Given the description of an element on the screen output the (x, y) to click on. 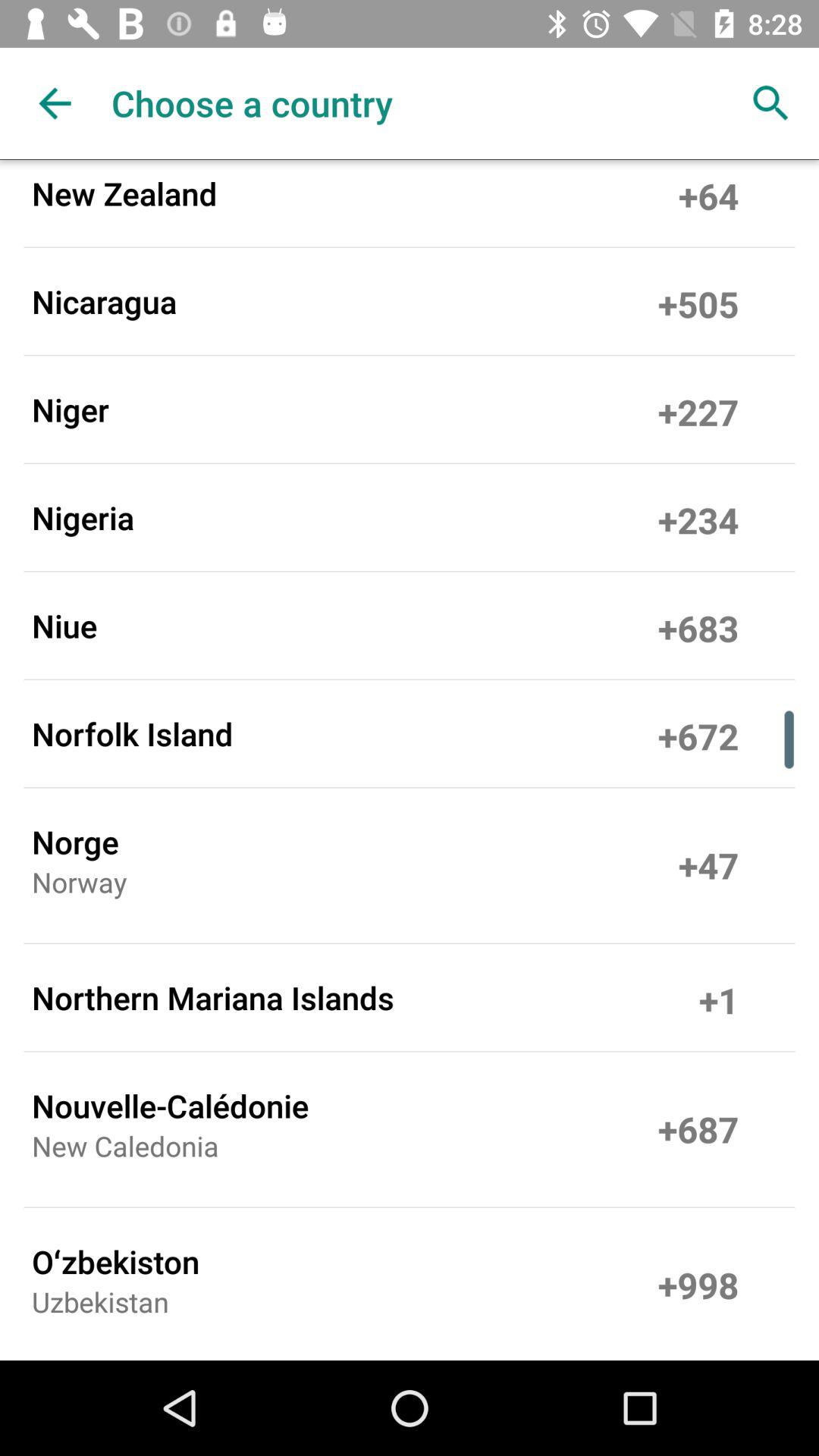
select item below norge item (78, 887)
